Given the description of an element on the screen output the (x, y) to click on. 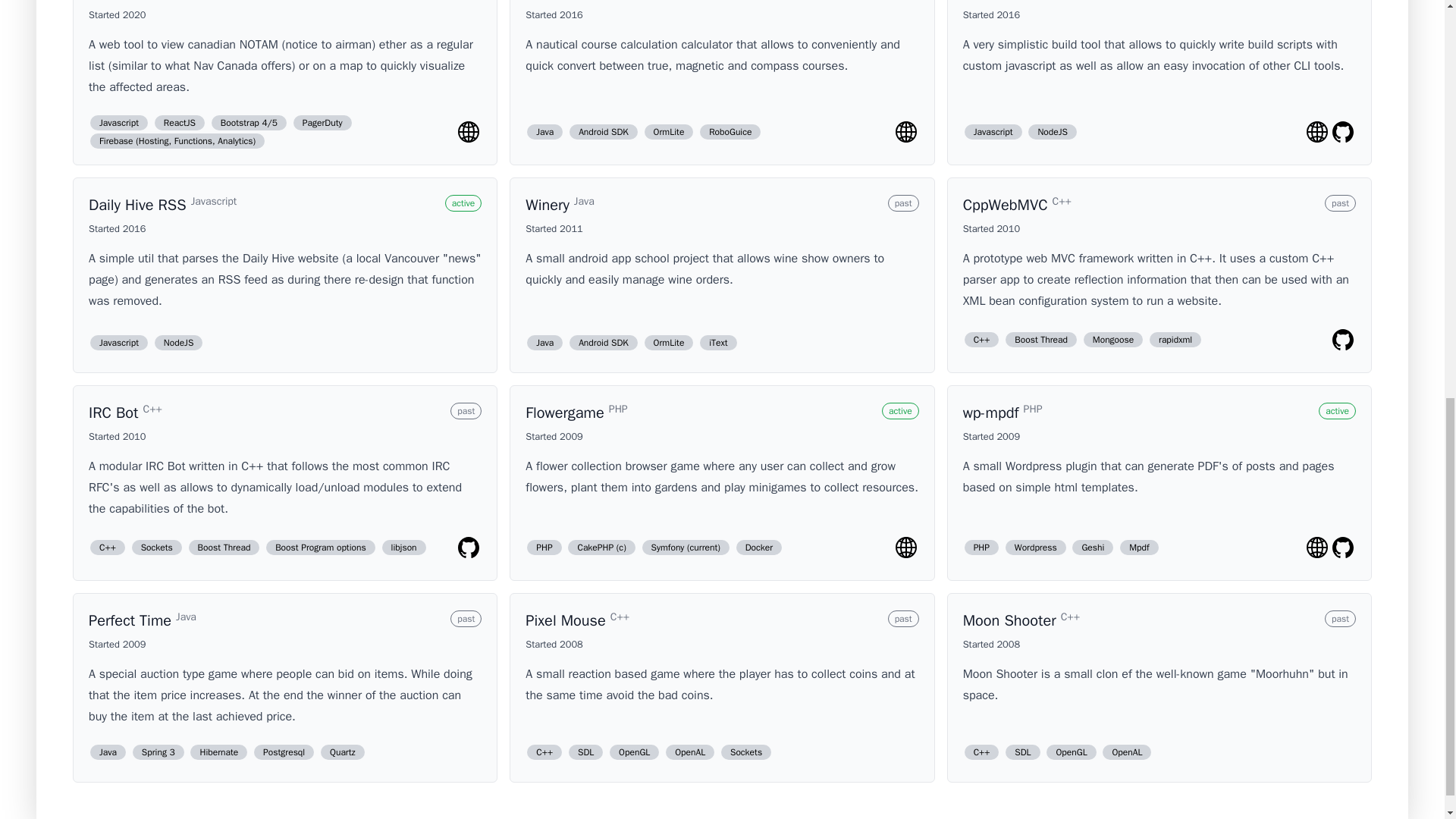
wp-mpdf GitHub (1342, 547)
nss-run Project Website (1317, 131)
NOTAM.CA Project Website (468, 131)
IRC Bot GitHub (468, 547)
nss-run GitHub (1342, 131)
Flowergame Project Website (905, 547)
Coastal Nav Calculator Project Website (905, 131)
CppWebMVC GitHub (1342, 339)
wp-mpdf Project Website (1317, 547)
